Given the description of an element on the screen output the (x, y) to click on. 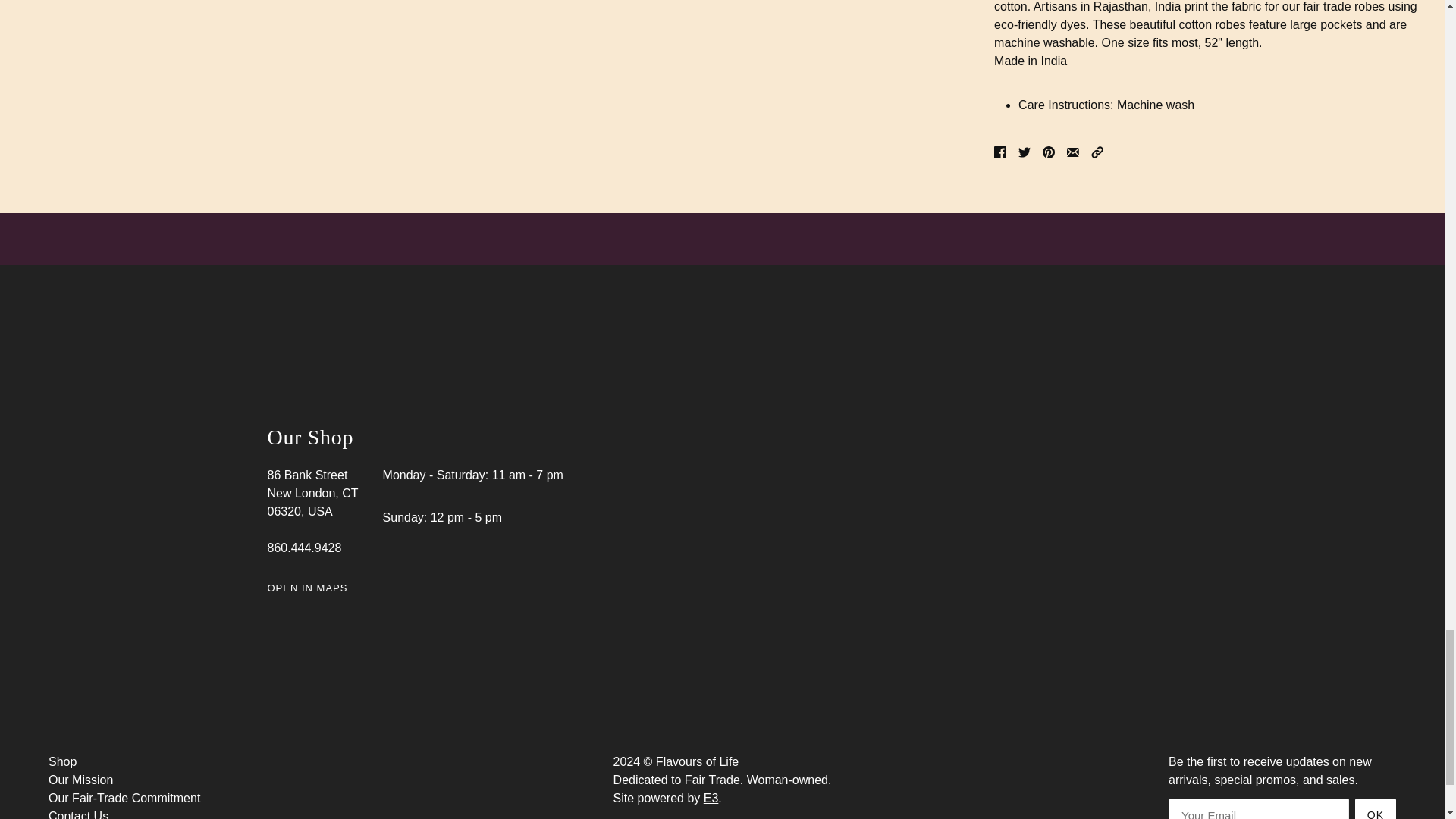
Contact Us (77, 814)
Our Mission (80, 779)
Our Fair-Trade Commitment (124, 797)
Shop (62, 761)
